Given the description of an element on the screen output the (x, y) to click on. 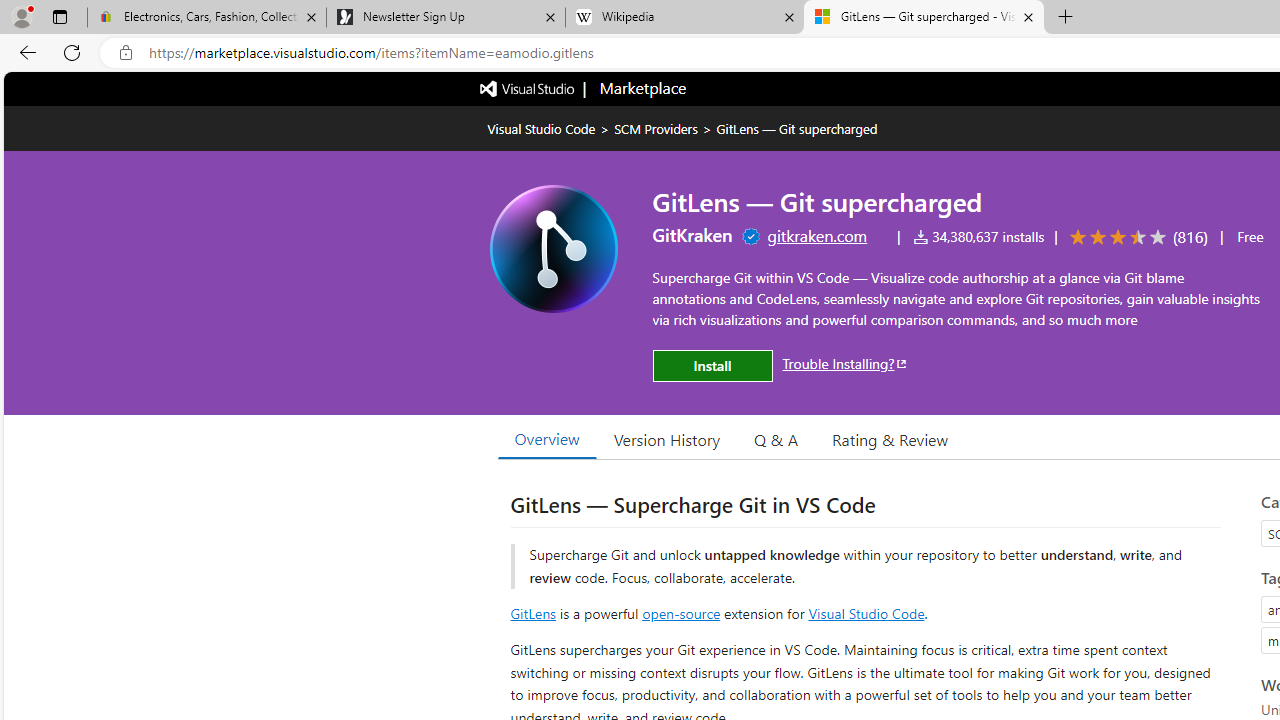
Rating & Review (890, 439)
Visual Studio logo (528, 87)
Version History (667, 439)
Q & A (776, 439)
Average rating: 3.7 out of 5. Navigate to user reviews. (1135, 237)
open-source (681, 612)
Newsletter Sign Up (445, 17)
SCM Providers (655, 128)
gitkraken.com (816, 235)
